Given the description of an element on the screen output the (x, y) to click on. 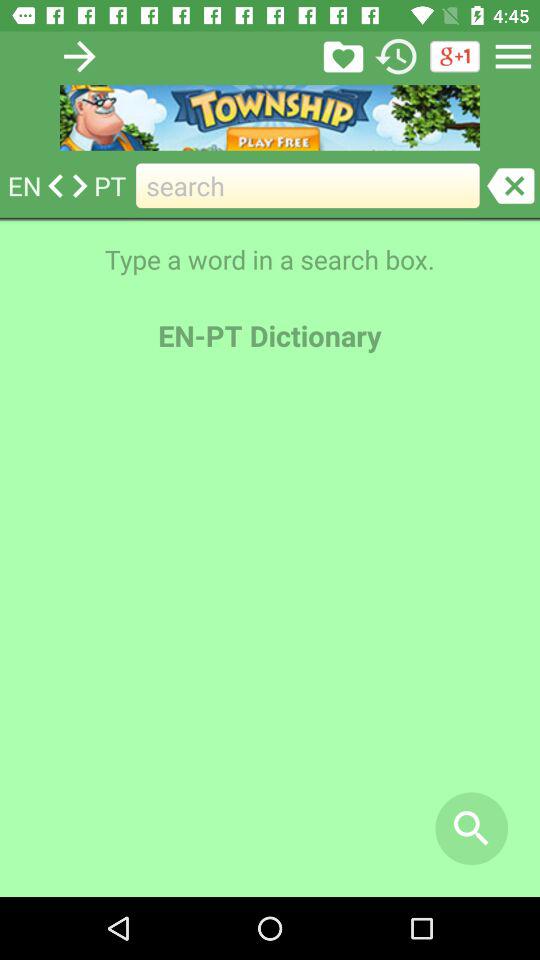
menu button (513, 56)
